Given the description of an element on the screen output the (x, y) to click on. 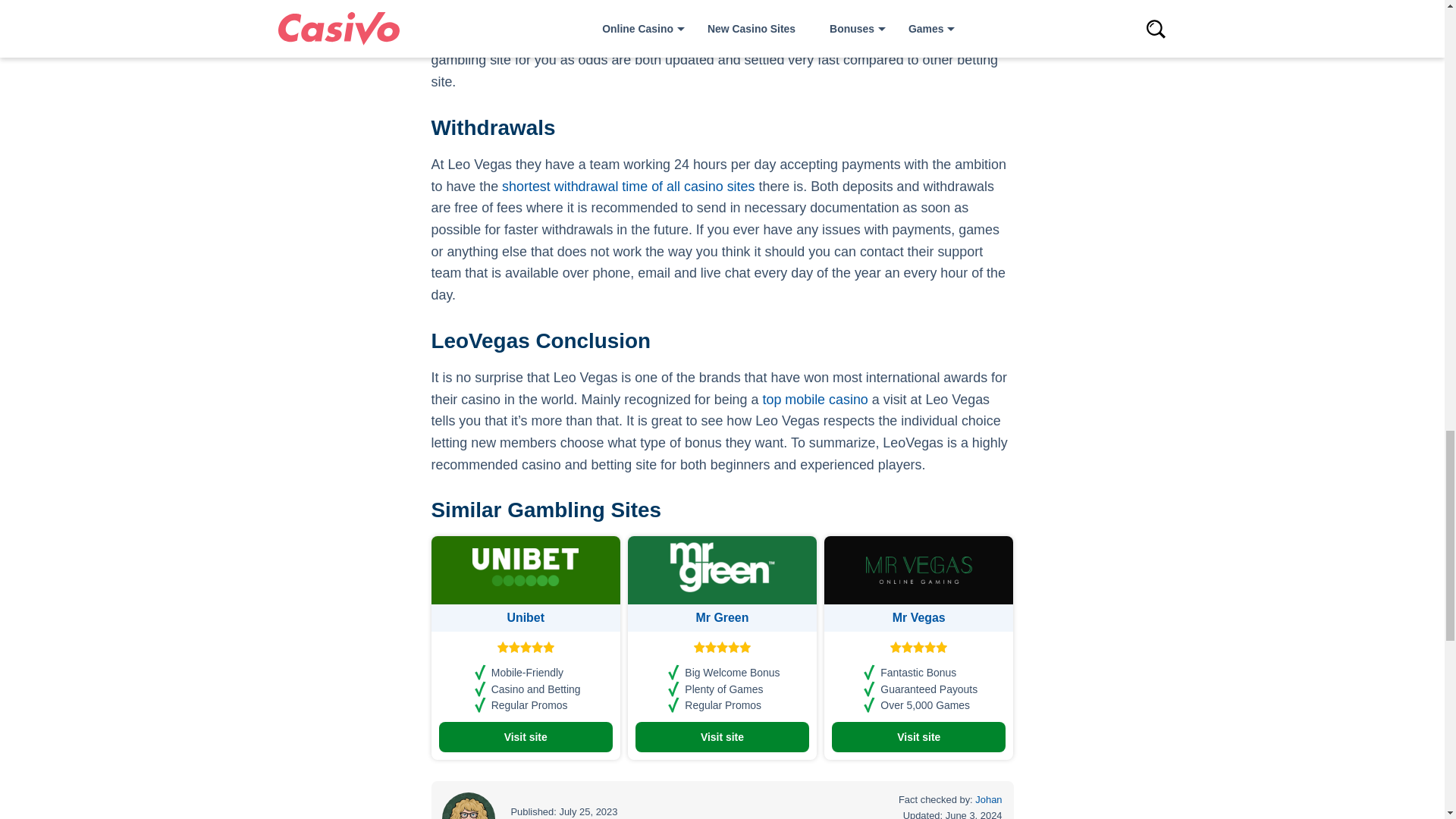
Unibet (525, 617)
Mr Green (722, 617)
top mobile casino (814, 399)
Visit site (721, 736)
shortest withdrawal time of all casino sites (628, 186)
Mr Vegas (918, 617)
Visit site (524, 736)
Visit site (918, 736)
